Given the description of an element on the screen output the (x, y) to click on. 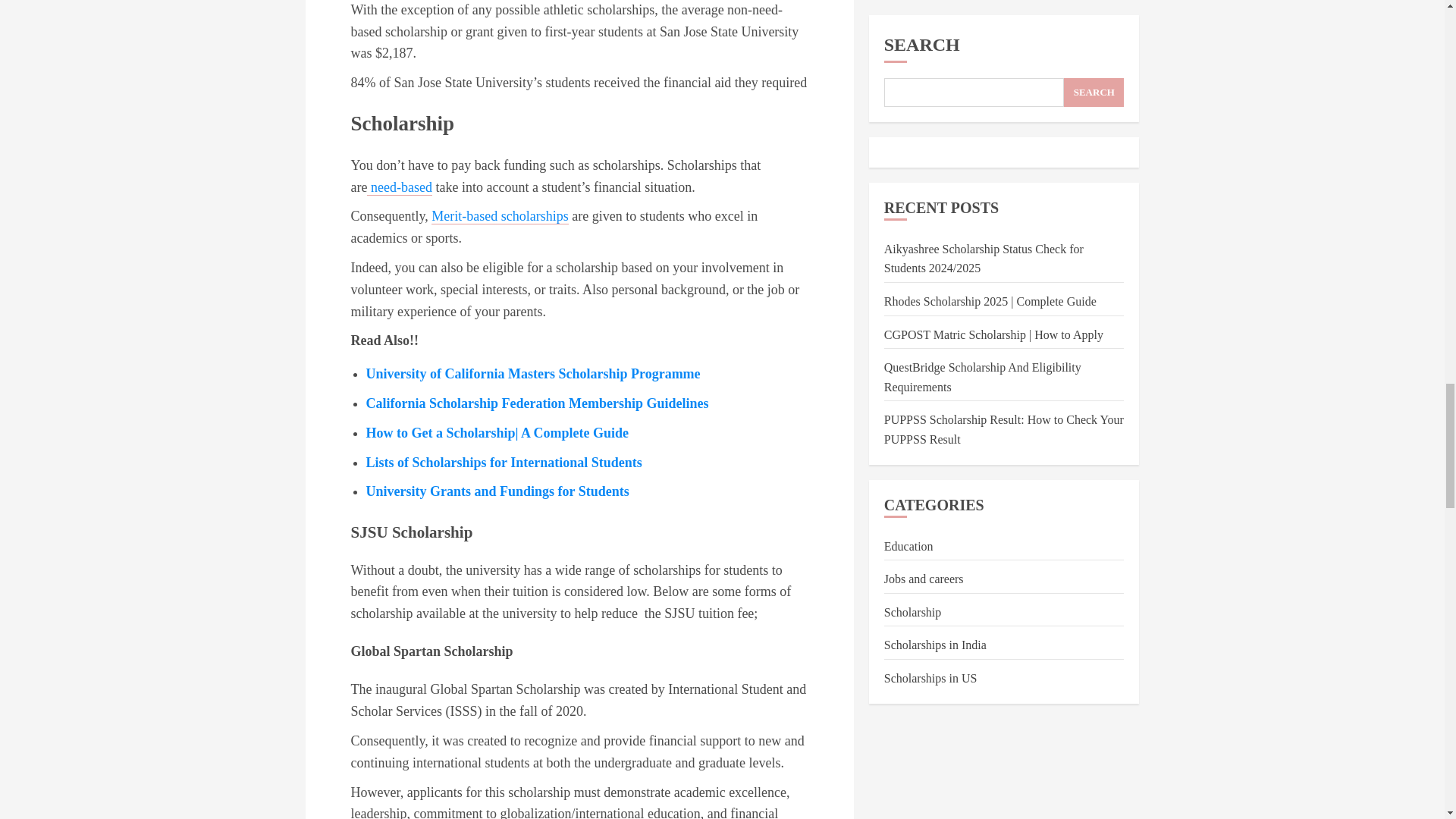
Lists of Scholarships for International Students (503, 462)
University of California Masters Scholarship Programme (532, 373)
Merit-based scholarships (498, 216)
California Scholarship Federation Membership Guidelines (536, 403)
 need-based (398, 187)
University Grants and Fundings for Students (496, 491)
